Given the description of an element on the screen output the (x, y) to click on. 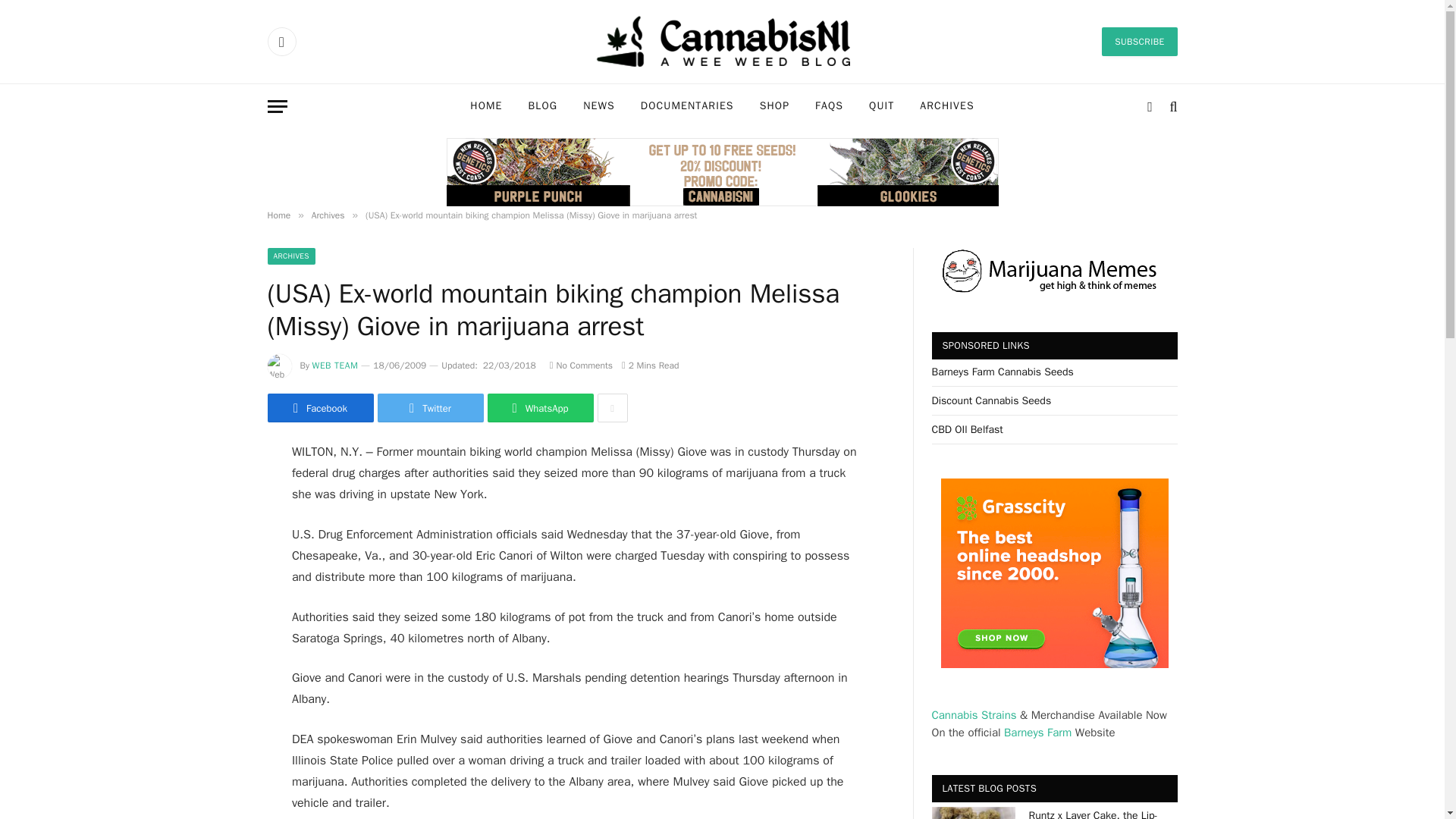
DOCUMENTARIES (686, 106)
Home (277, 215)
CannabisNI (722, 41)
Archives (328, 215)
SUBSCRIBE (1139, 41)
NEWS (598, 106)
WEB TEAM (335, 365)
FAQS (829, 106)
ARCHIVES (290, 256)
HOME (486, 106)
BLOG (542, 106)
SHOP (774, 106)
Twitter (430, 407)
Show More Social Sharing (611, 407)
Posts by Web Team (335, 365)
